Given the description of an element on the screen output the (x, y) to click on. 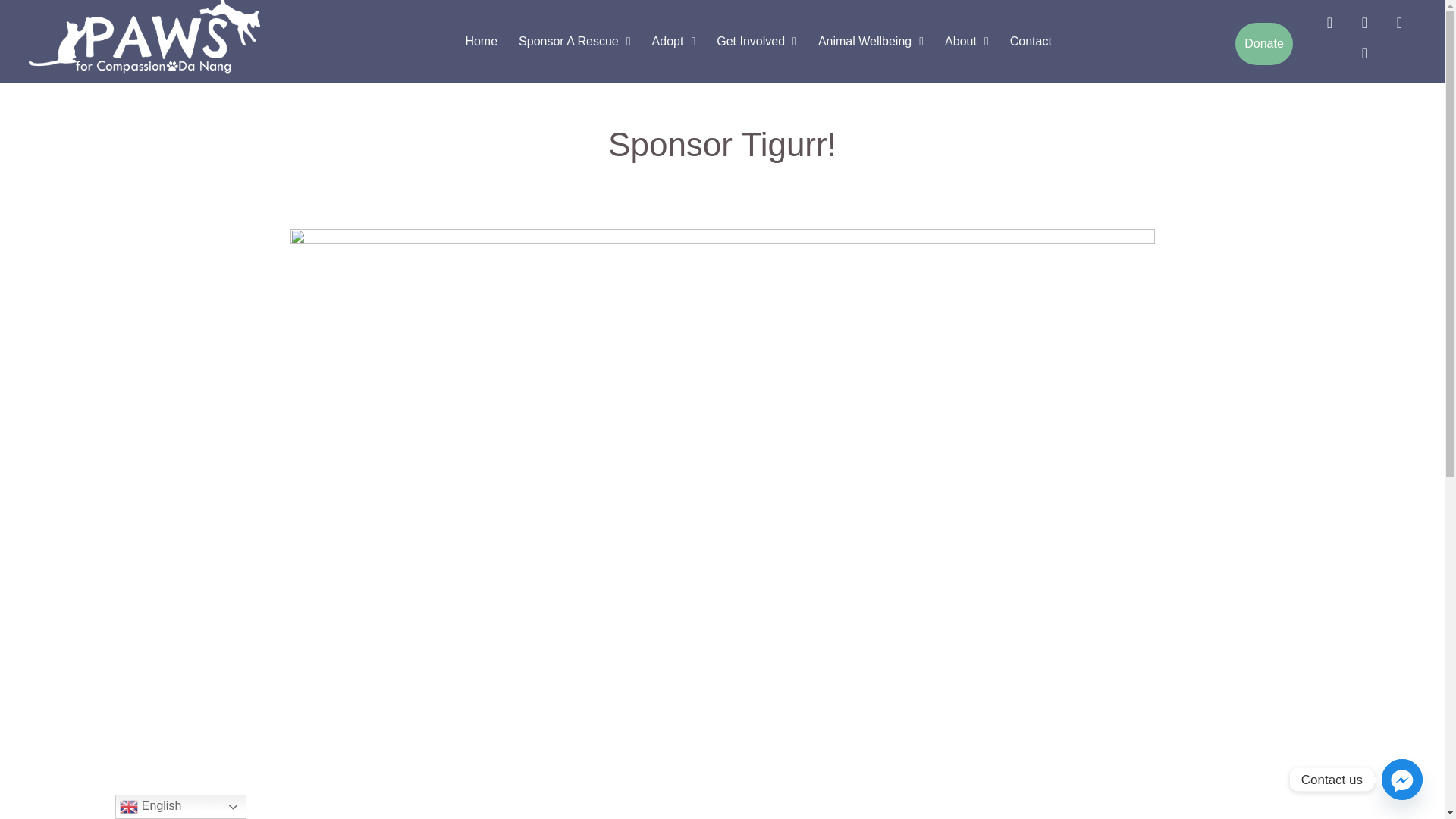
About (966, 41)
Get Involved (757, 41)
Sponsor A Rescue (574, 41)
Animal Wellbeing (871, 41)
Contact (1030, 41)
Home (481, 41)
Adopt (674, 41)
